Given the description of an element on the screen output the (x, y) to click on. 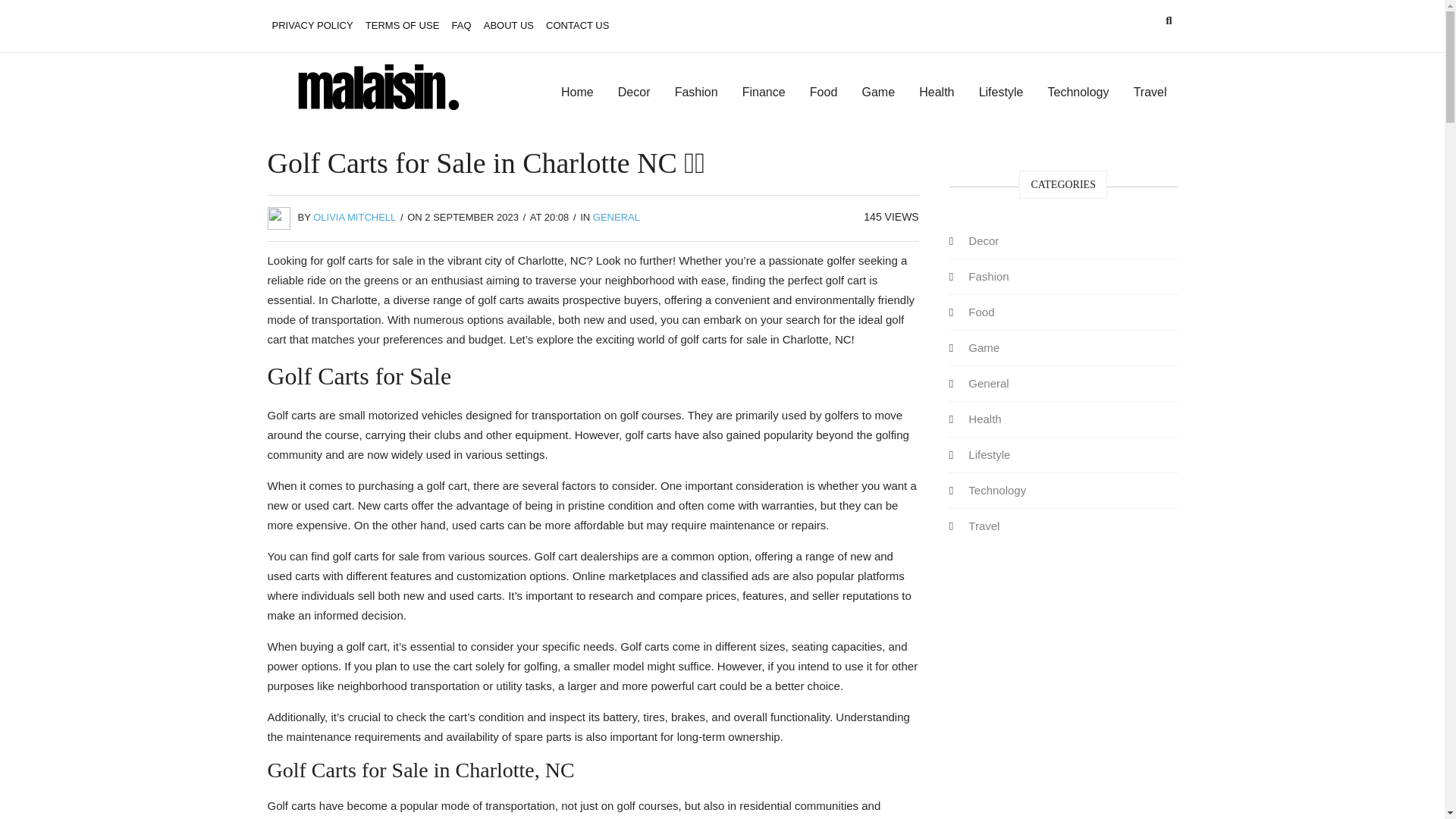
TERMS OF USE (402, 25)
Game (983, 347)
Food (823, 92)
Travel (1149, 92)
GENERAL (616, 216)
Posts by Olivia Mitchell (354, 216)
OLIVIA MITCHELL (354, 216)
Lifestyle (988, 453)
Home (577, 92)
Health (984, 419)
